Given the description of an element on the screen output the (x, y) to click on. 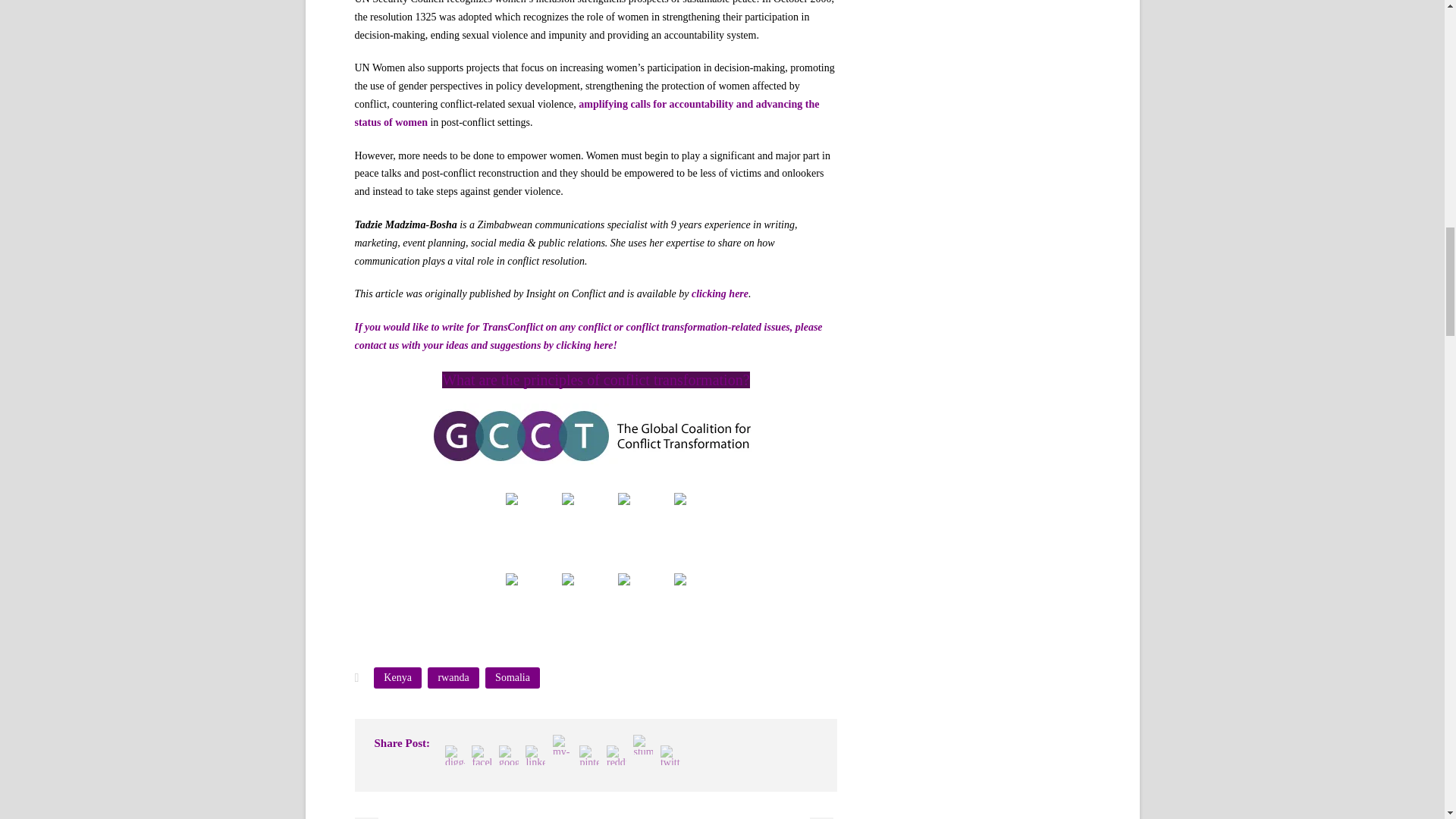
Share on Facebook (511, 517)
Share on Linkedin (623, 499)
GCCT Logo (595, 437)
Share on Facebook (511, 499)
Share by email (680, 517)
Share on Twitter (567, 517)
Share on Twitter (567, 499)
Share on Linkedin (623, 517)
Share by email (679, 499)
